Given the description of an element on the screen output the (x, y) to click on. 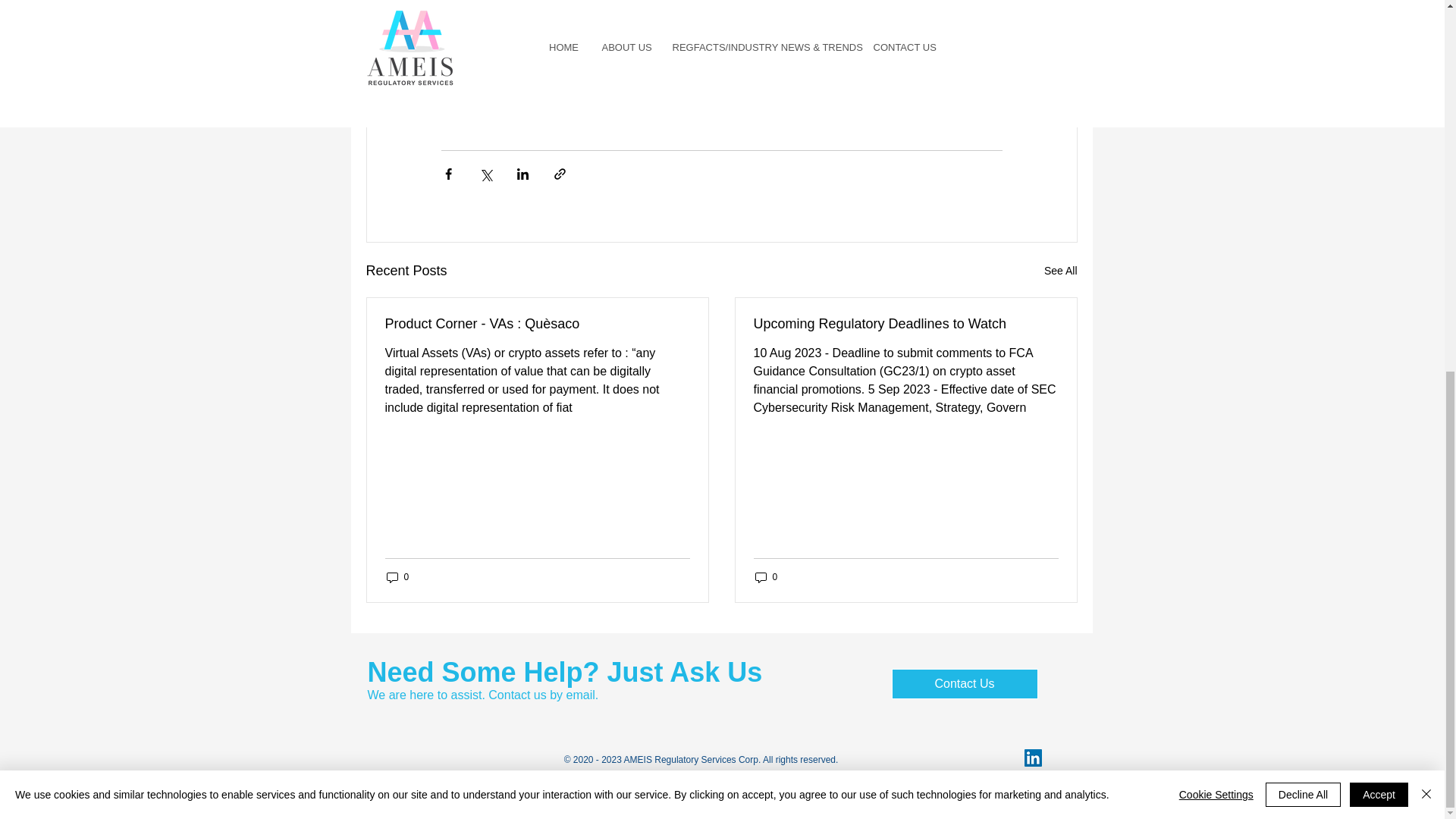
0 (766, 577)
Decline All (1302, 119)
See All (1060, 270)
Contact Us (964, 684)
0 (397, 577)
Upcoming Regulatory Deadlines to Watch (906, 324)
Accept (1378, 119)
